Given the description of an element on the screen output the (x, y) to click on. 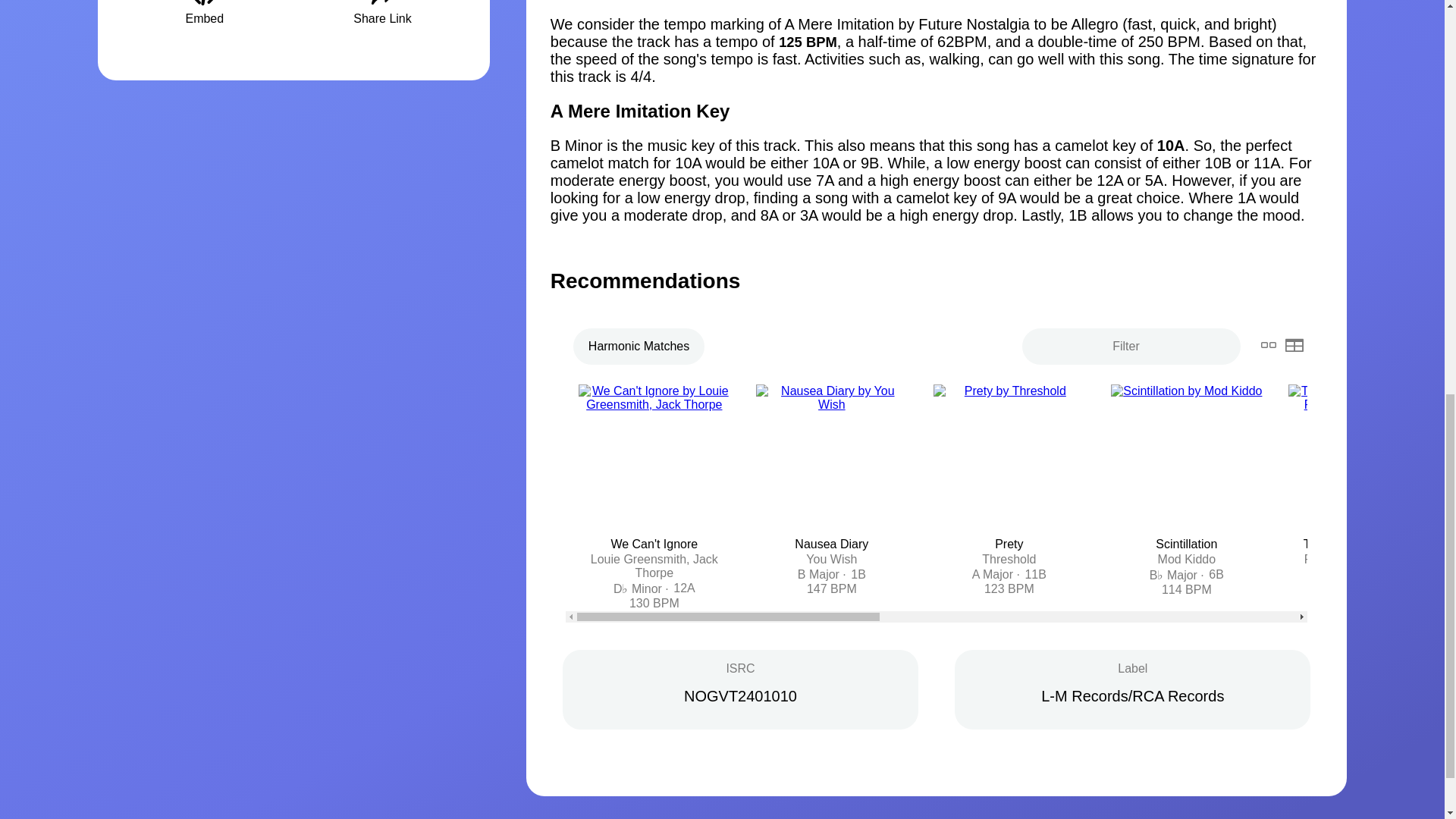
Nausea Diary (830, 543)
Scintillation (1186, 543)
We Can't Ignore (653, 543)
125 BPM (807, 41)
Prety (1008, 543)
